Given the description of an element on the screen output the (x, y) to click on. 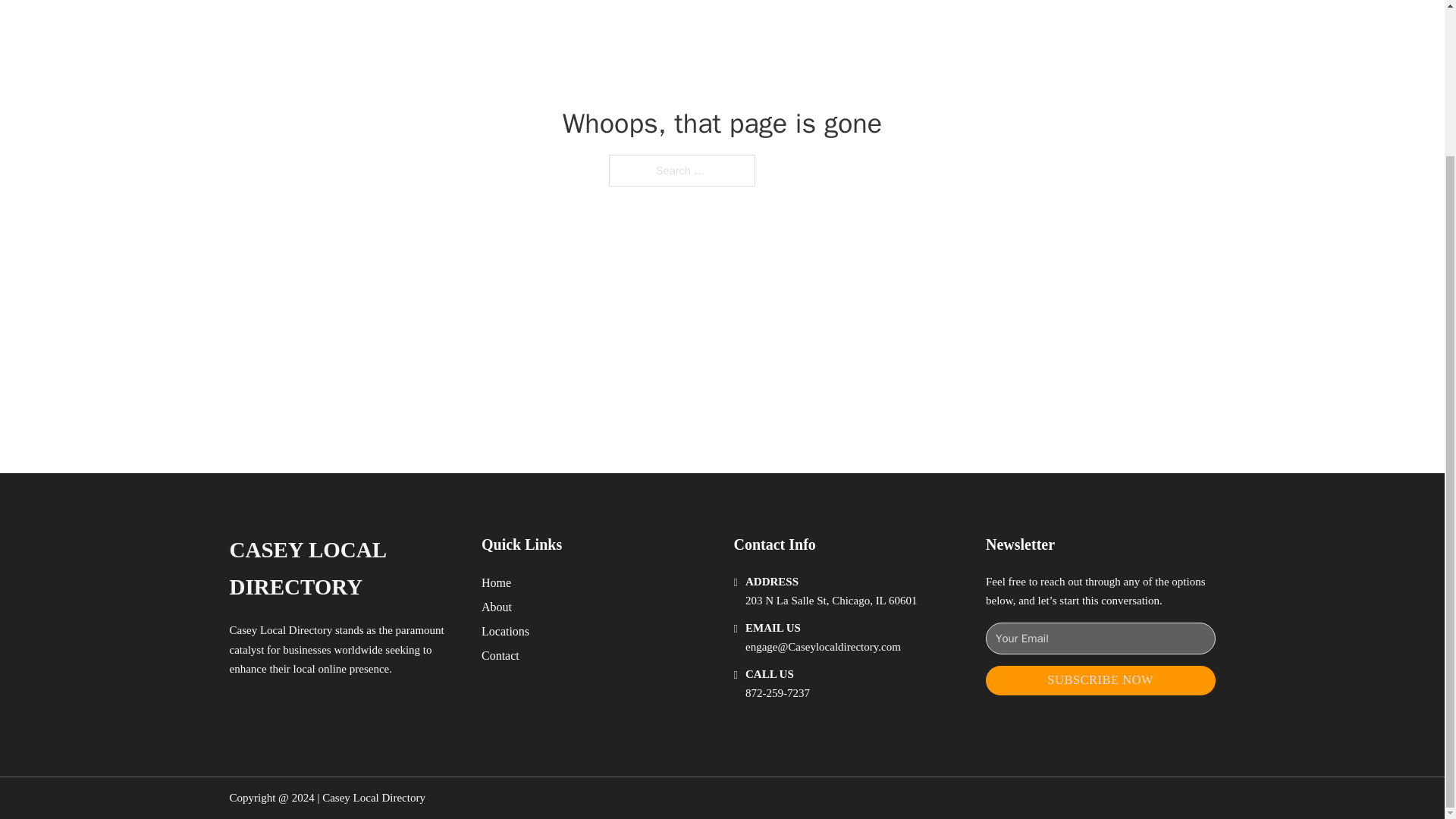
SUBSCRIBE NOW (1100, 680)
CASEY LOCAL DIRECTORY (343, 568)
Home (496, 582)
About (496, 607)
872-259-7237 (777, 693)
Contact (500, 655)
Locations (505, 630)
